Given the description of an element on the screen output the (x, y) to click on. 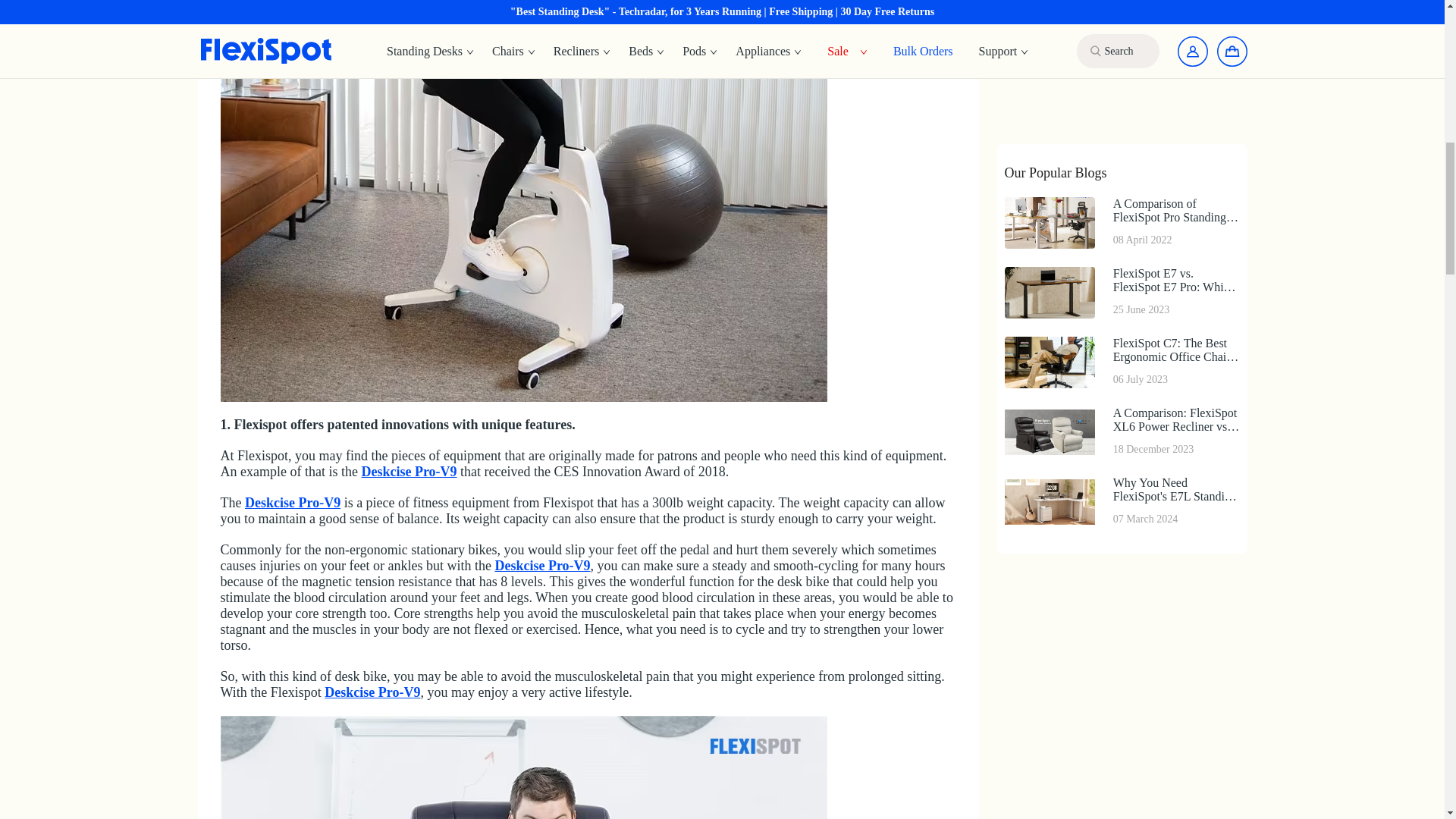
Deskcise Pro-V9 (409, 471)
Ergonomic Office Chair 9051 (523, 767)
Deskcise Pro-V9 (372, 692)
Deskcise Pro-V9 (542, 565)
Deskcise Pro-V9 (292, 502)
